Given the description of an element on the screen output the (x, y) to click on. 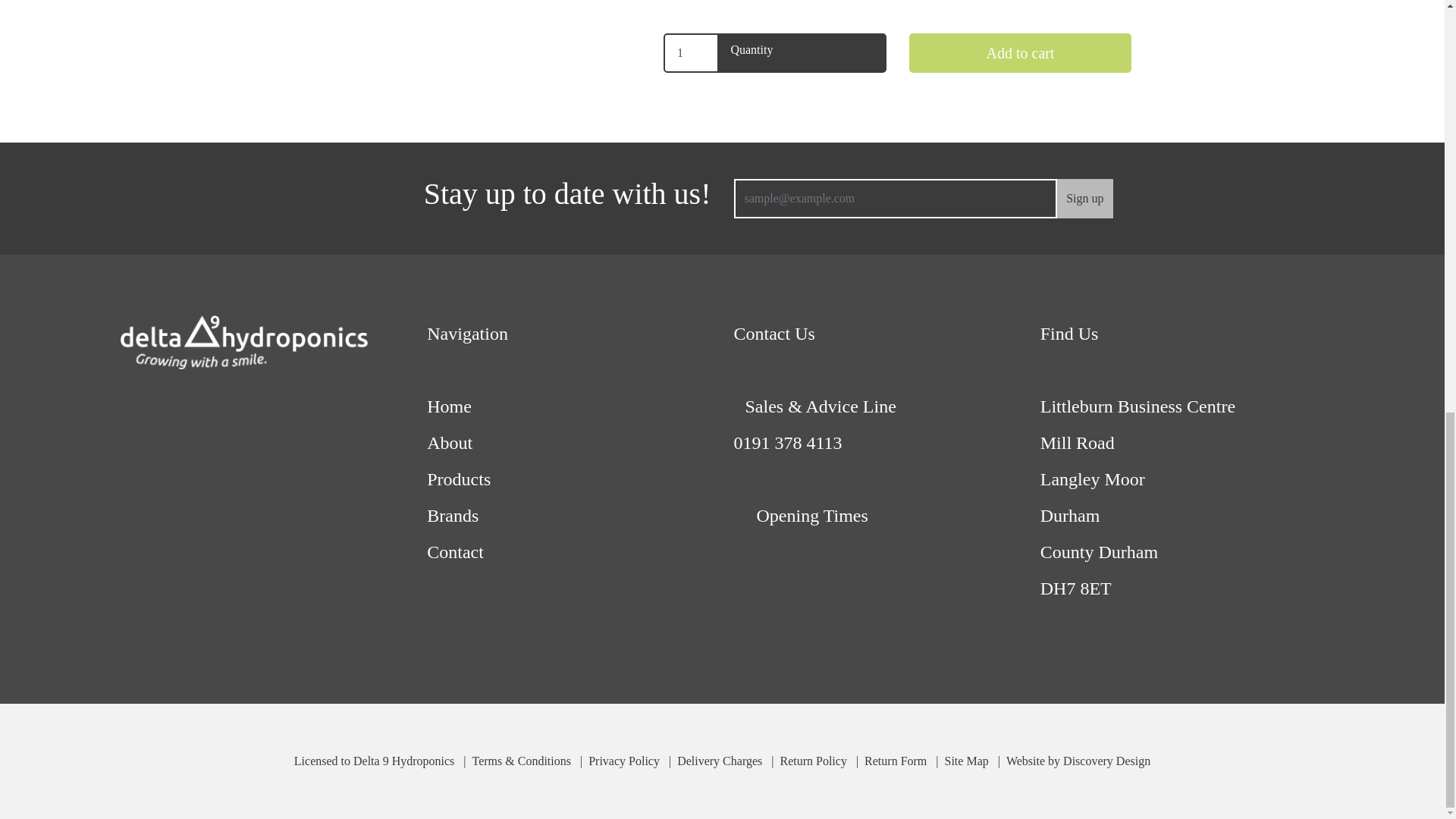
Add to cart (1020, 52)
1 (691, 52)
